Given the description of an element on the screen output the (x, y) to click on. 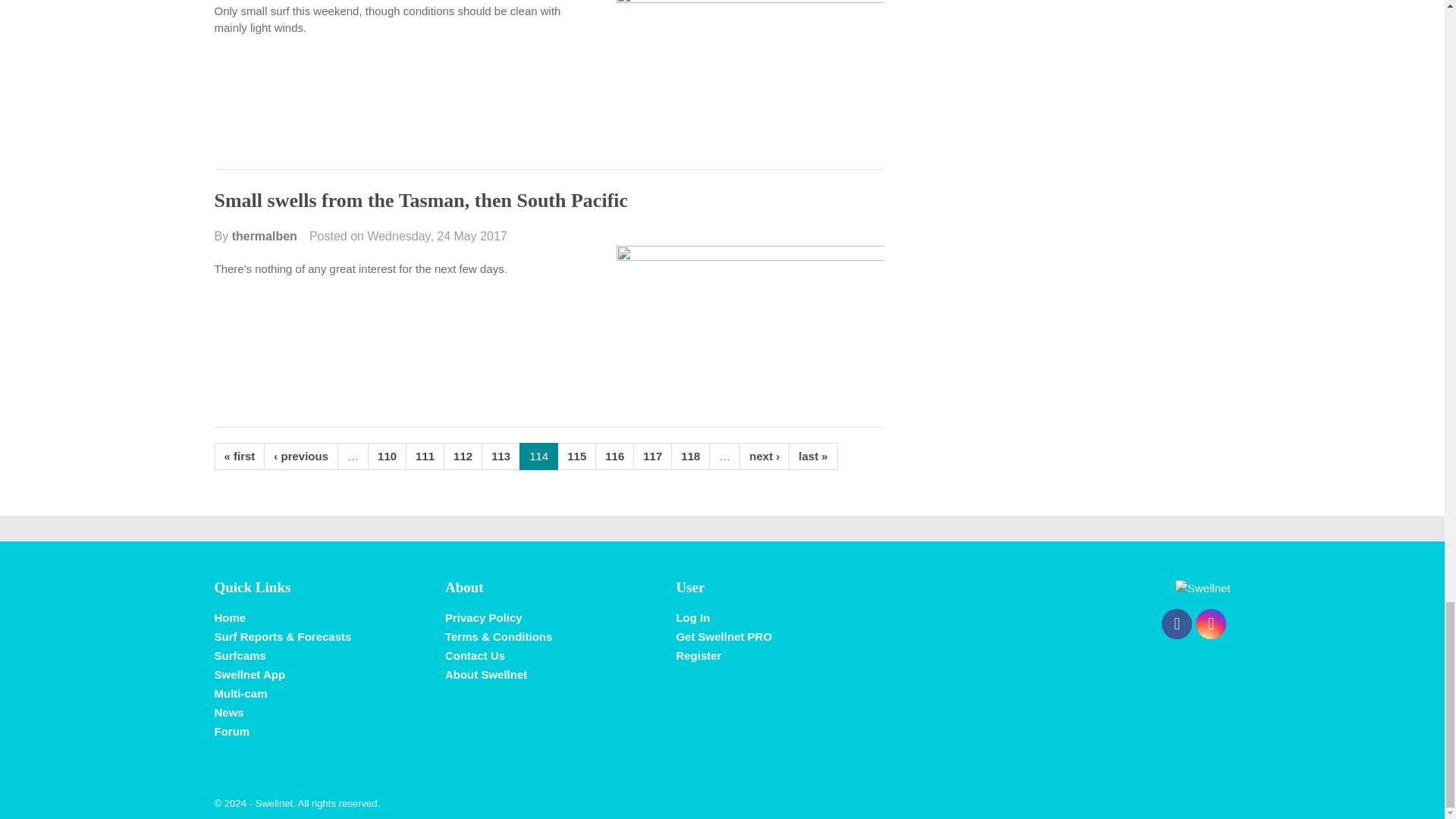
Go to page 113 (500, 456)
116 (614, 456)
Instagram (1210, 624)
Go to first page (239, 456)
Small swells from the Tasman, then South Pacific (420, 200)
Go to page 118 (690, 456)
111 (425, 456)
112 (462, 456)
Go to previous page (300, 456)
110 (387, 456)
